Given the description of an element on the screen output the (x, y) to click on. 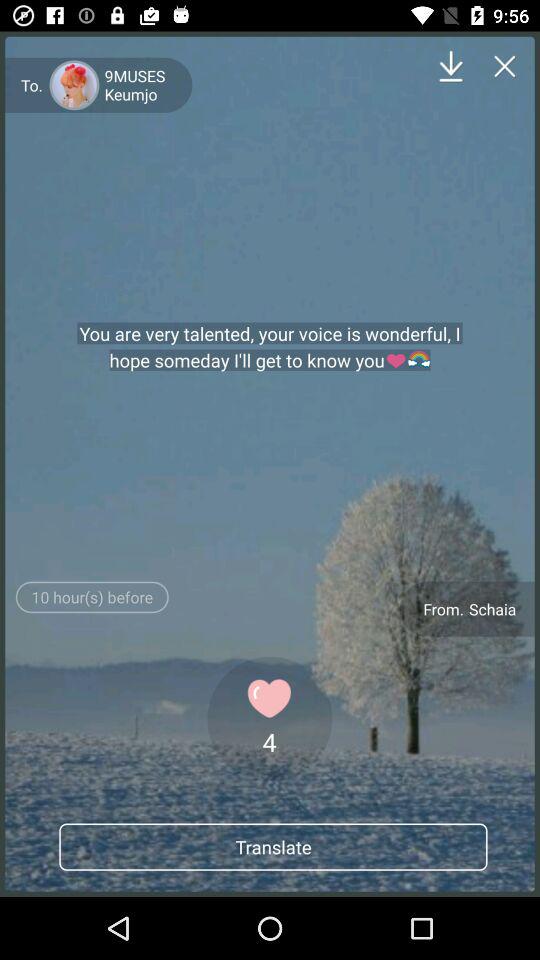
choose item above the you are very item (450, 65)
